Given the description of an element on the screen output the (x, y) to click on. 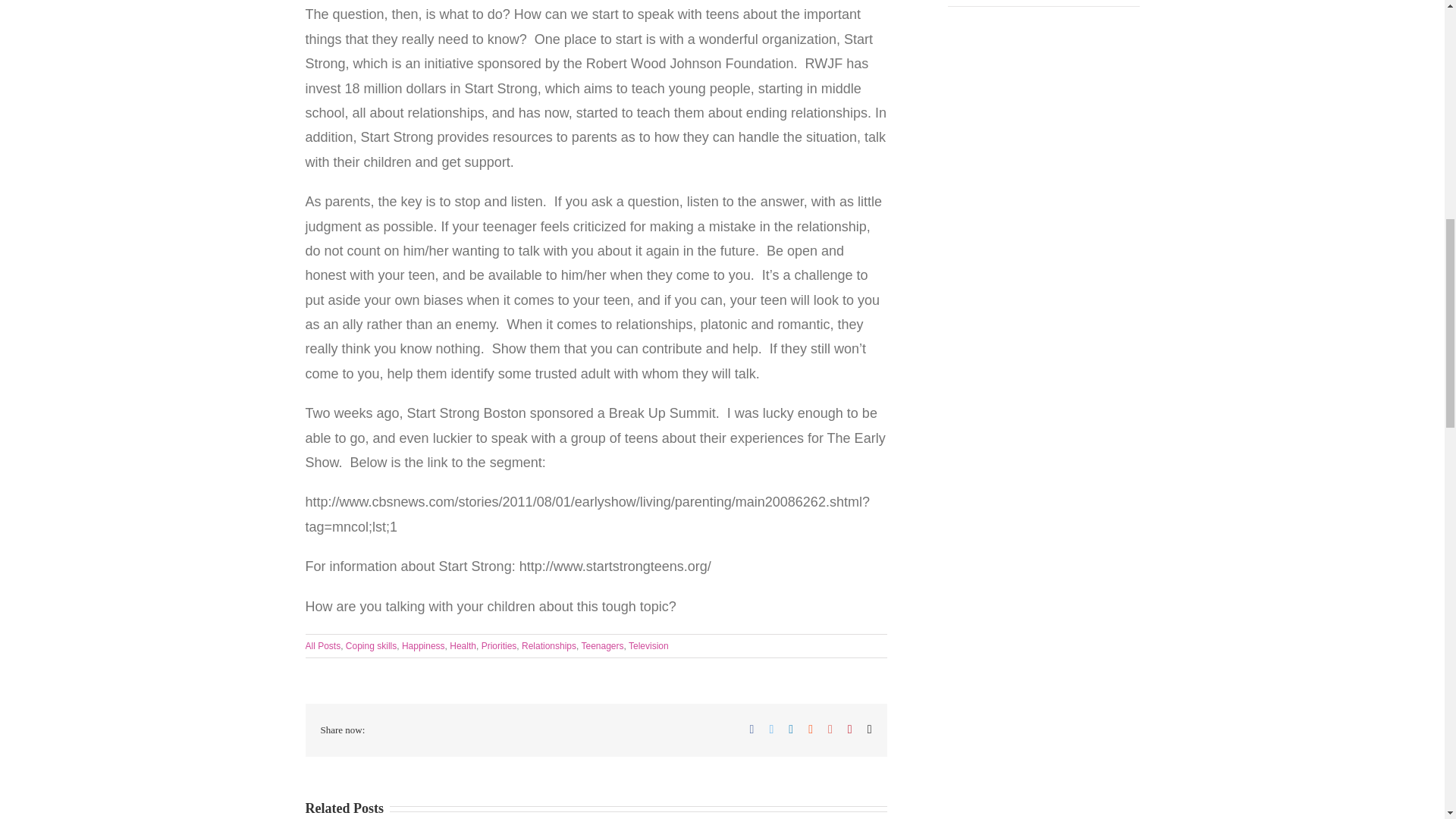
Priorities (498, 645)
Teenagers (601, 645)
Relationships (548, 645)
Television (648, 645)
All Posts (322, 645)
Happiness (423, 645)
Health (462, 645)
Coping skills (371, 645)
